Given the description of an element on the screen output the (x, y) to click on. 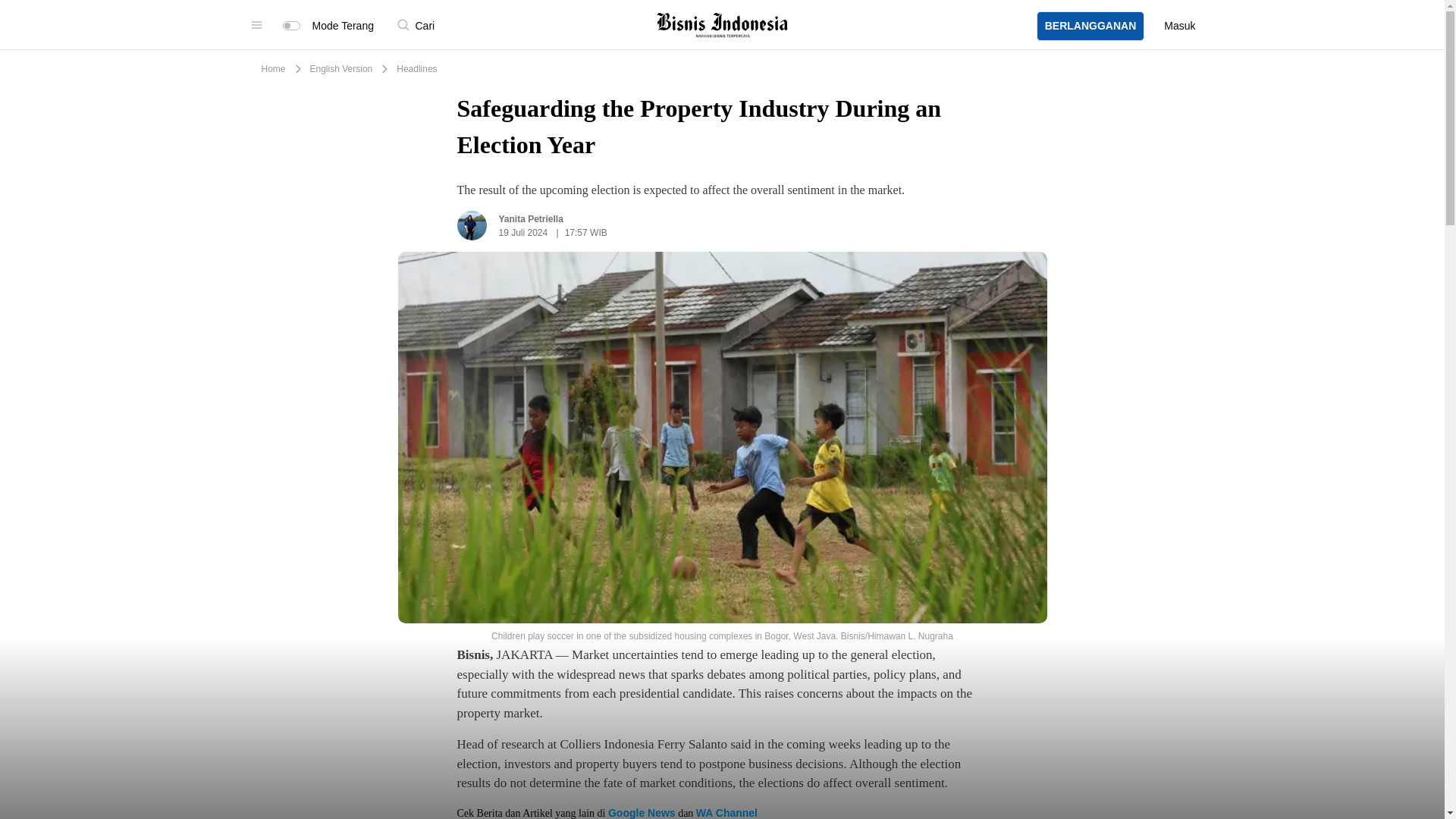
Google News (641, 812)
Headlines (416, 69)
English Version (341, 69)
Masuk (1179, 25)
BERLANGGANAN (1091, 24)
WA Channel (726, 812)
Home (272, 69)
